Given the description of an element on the screen output the (x, y) to click on. 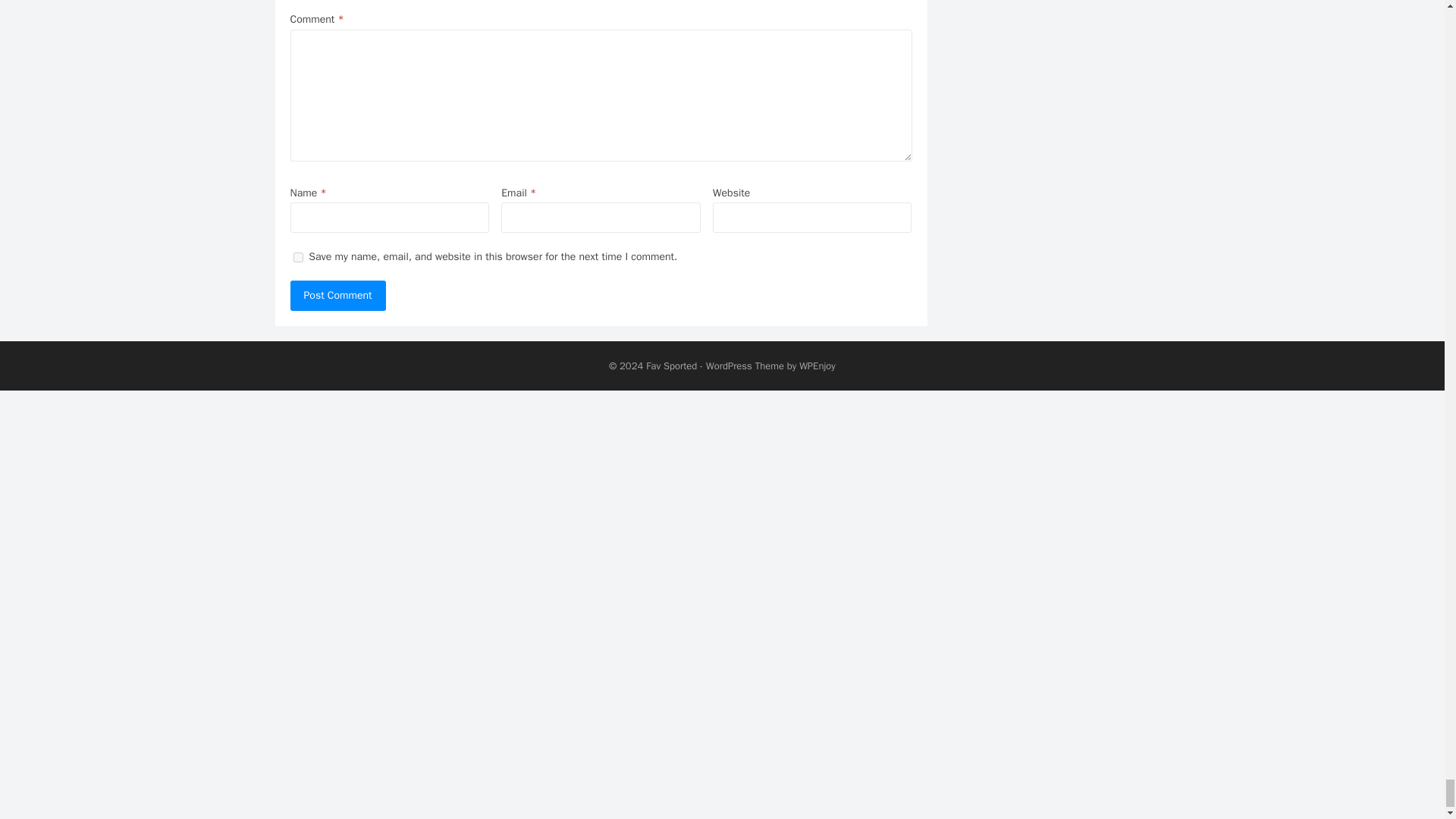
Post Comment (337, 295)
yes (297, 257)
